Given the description of an element on the screen output the (x, y) to click on. 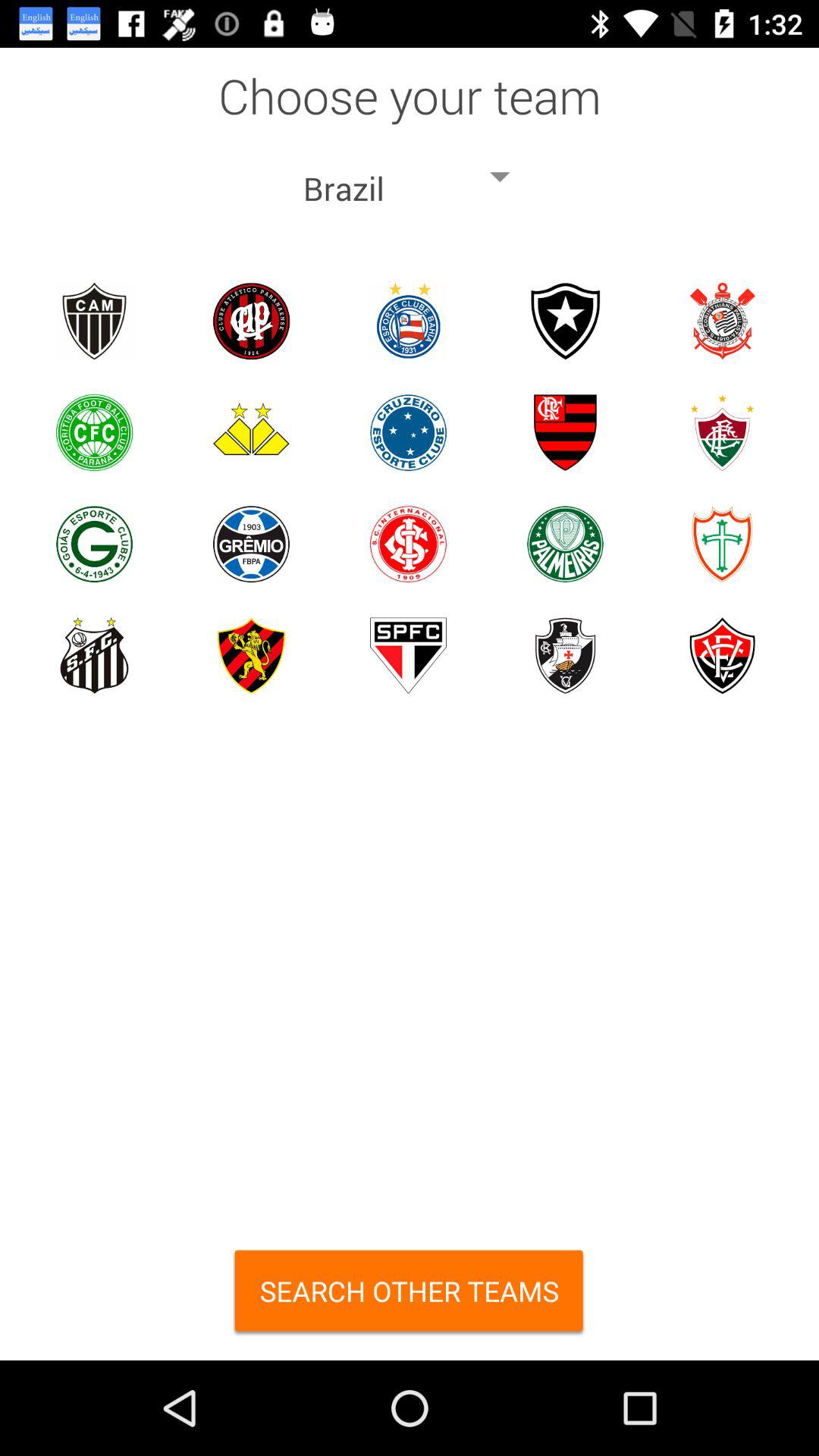
choose specific team (722, 655)
